Given the description of an element on the screen output the (x, y) to click on. 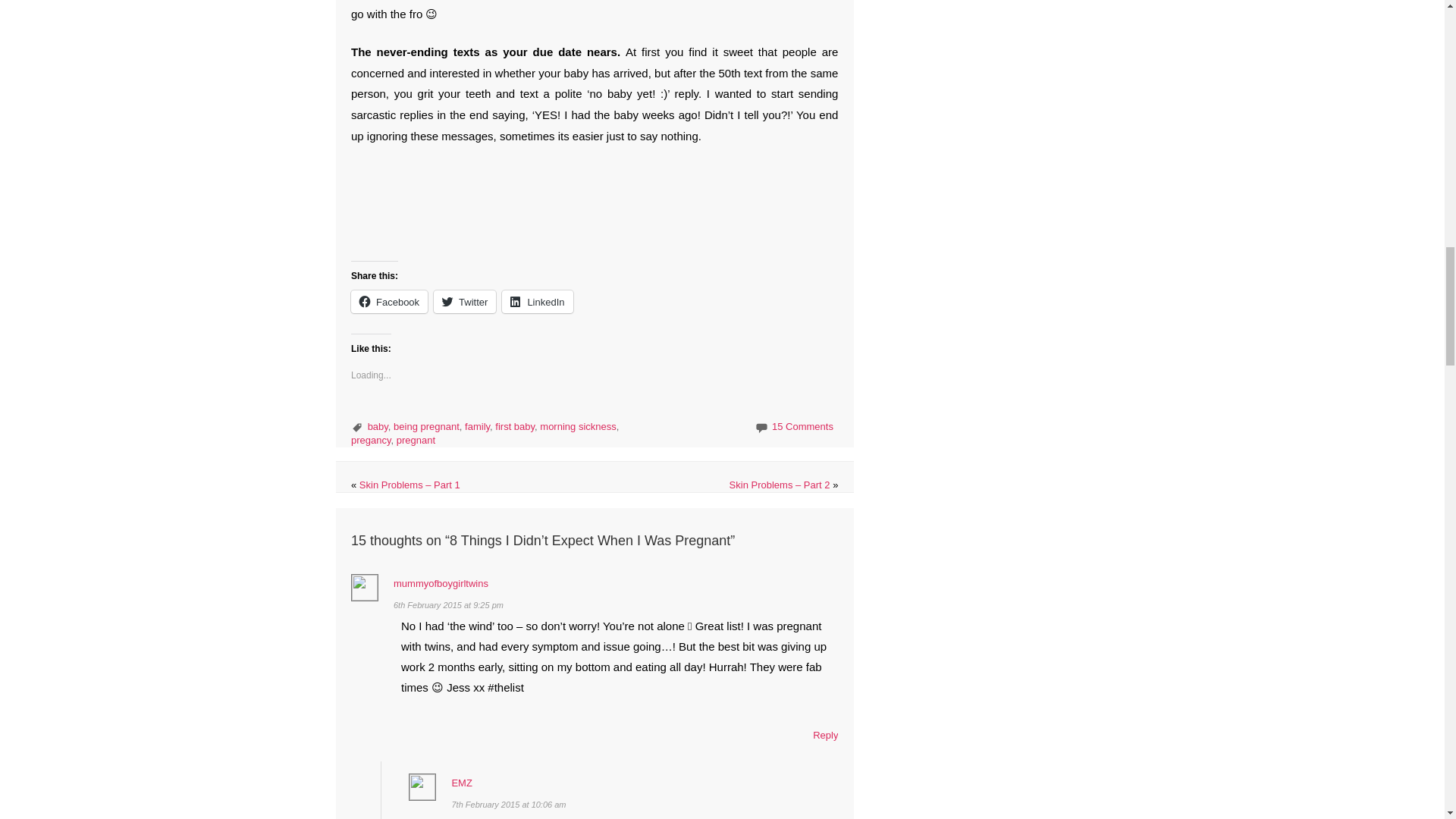
pregnant (415, 439)
15 Comments (801, 426)
baby (378, 426)
first baby (514, 426)
LinkedIn (537, 301)
EMZ (461, 782)
Click to share on LinkedIn (537, 301)
pregancy (370, 439)
Twitter (464, 301)
being pregnant (426, 426)
